Given the description of an element on the screen output the (x, y) to click on. 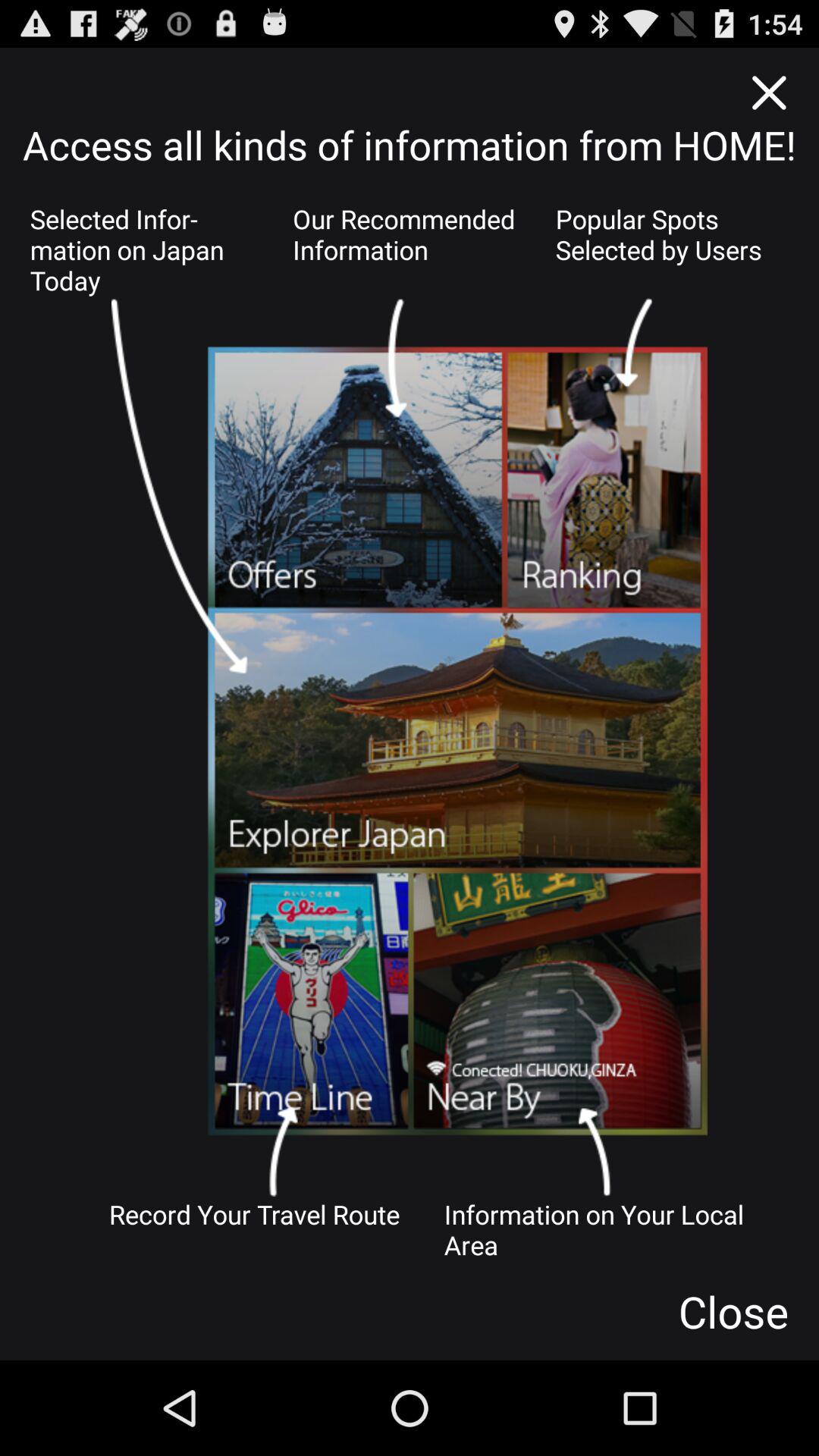
choose app above the access all kinds (767, 92)
